Given the description of an element on the screen output the (x, y) to click on. 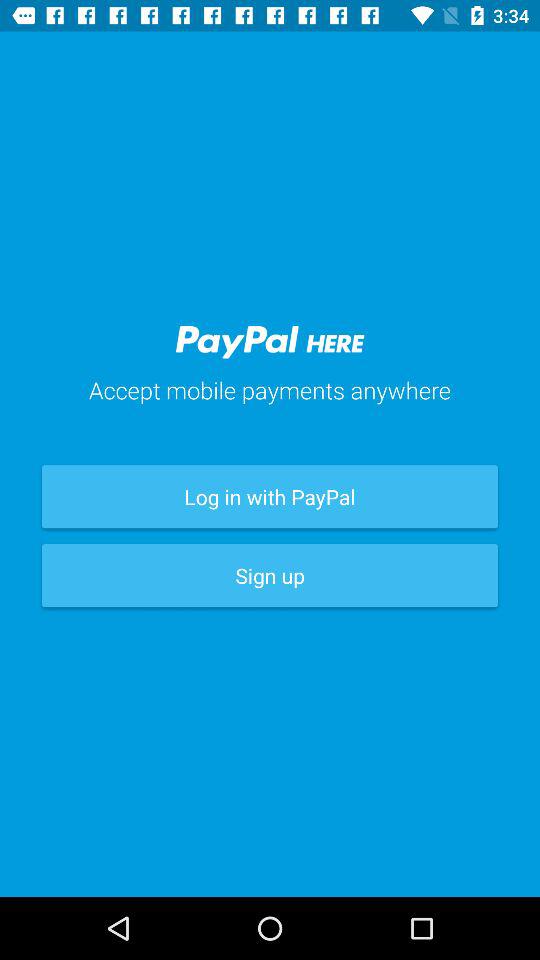
press the sign up (269, 575)
